Given the description of an element on the screen output the (x, y) to click on. 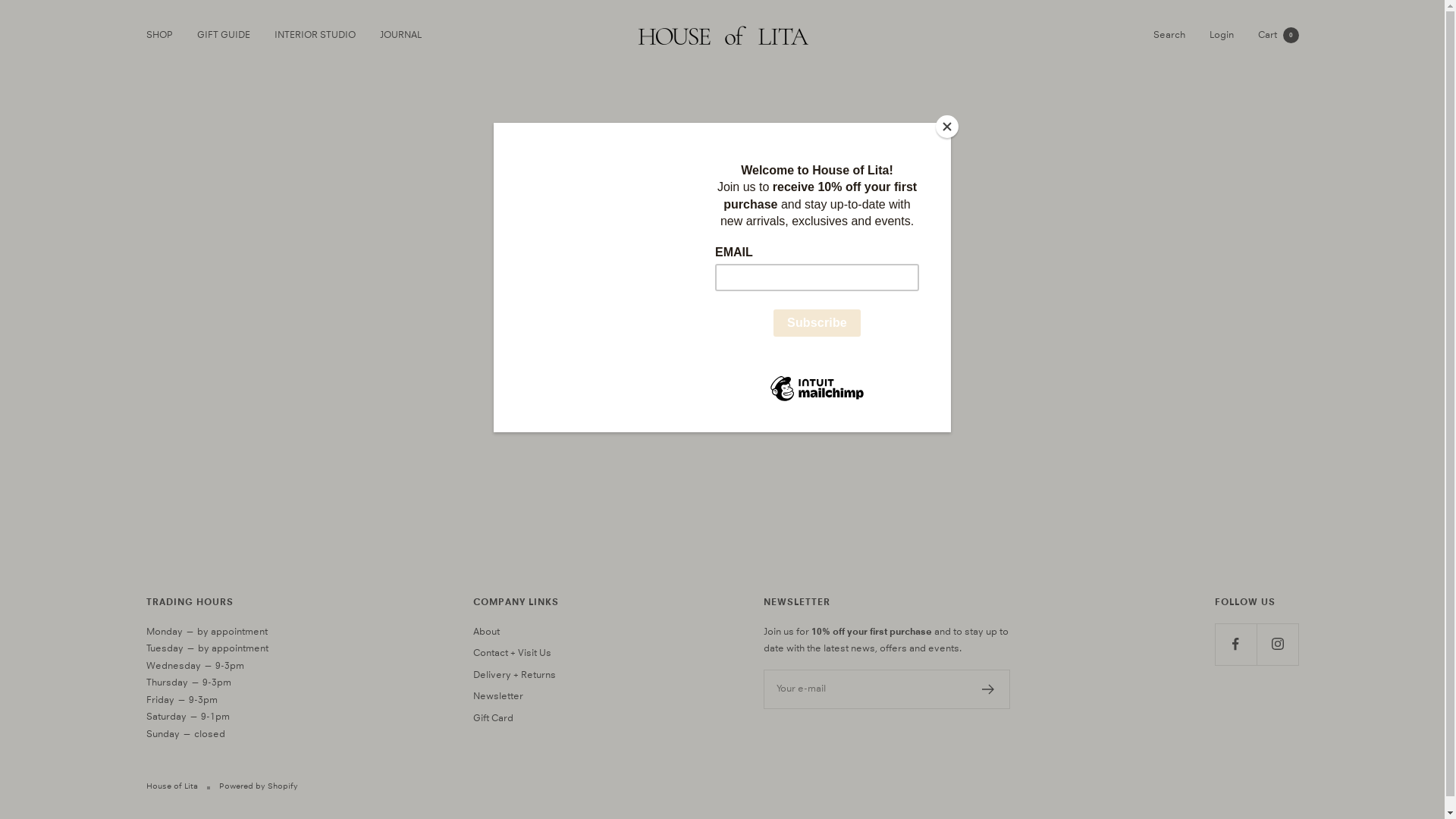
Login Element type: text (1220, 34)
House of Lita Element type: text (722, 34)
Newsletter Element type: text (498, 696)
Register Element type: hover (988, 689)
Cart
0 Element type: text (1277, 34)
About Element type: text (486, 631)
JOURNAL Element type: text (399, 34)
BACK TO HOME Element type: text (722, 350)
Delivery + Returns Element type: text (514, 675)
Gift Card Element type: text (493, 718)
SHOP Element type: text (158, 34)
Powered by Shopify Element type: text (257, 786)
Contact + Visit Us Element type: text (512, 653)
Search Element type: text (1168, 34)
INTERIOR STUDIO Element type: text (314, 34)
GIFT GUIDE Element type: text (223, 34)
